Given the description of an element on the screen output the (x, y) to click on. 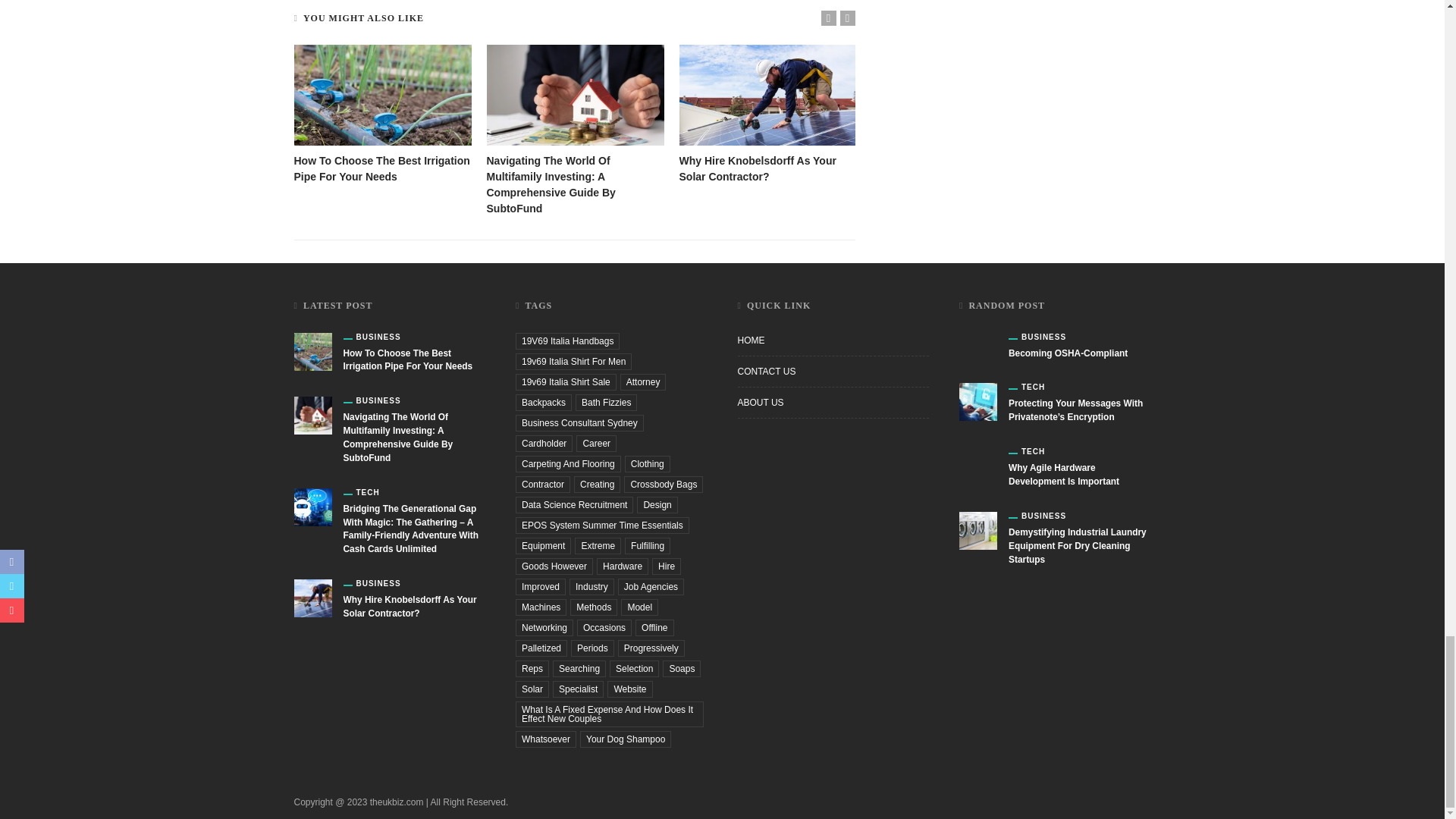
How to Choose the Best Irrigation Pipe for Your Needs (382, 168)
How to Choose the Best Irrigation Pipe for Your Needs (382, 95)
